Given the description of an element on the screen output the (x, y) to click on. 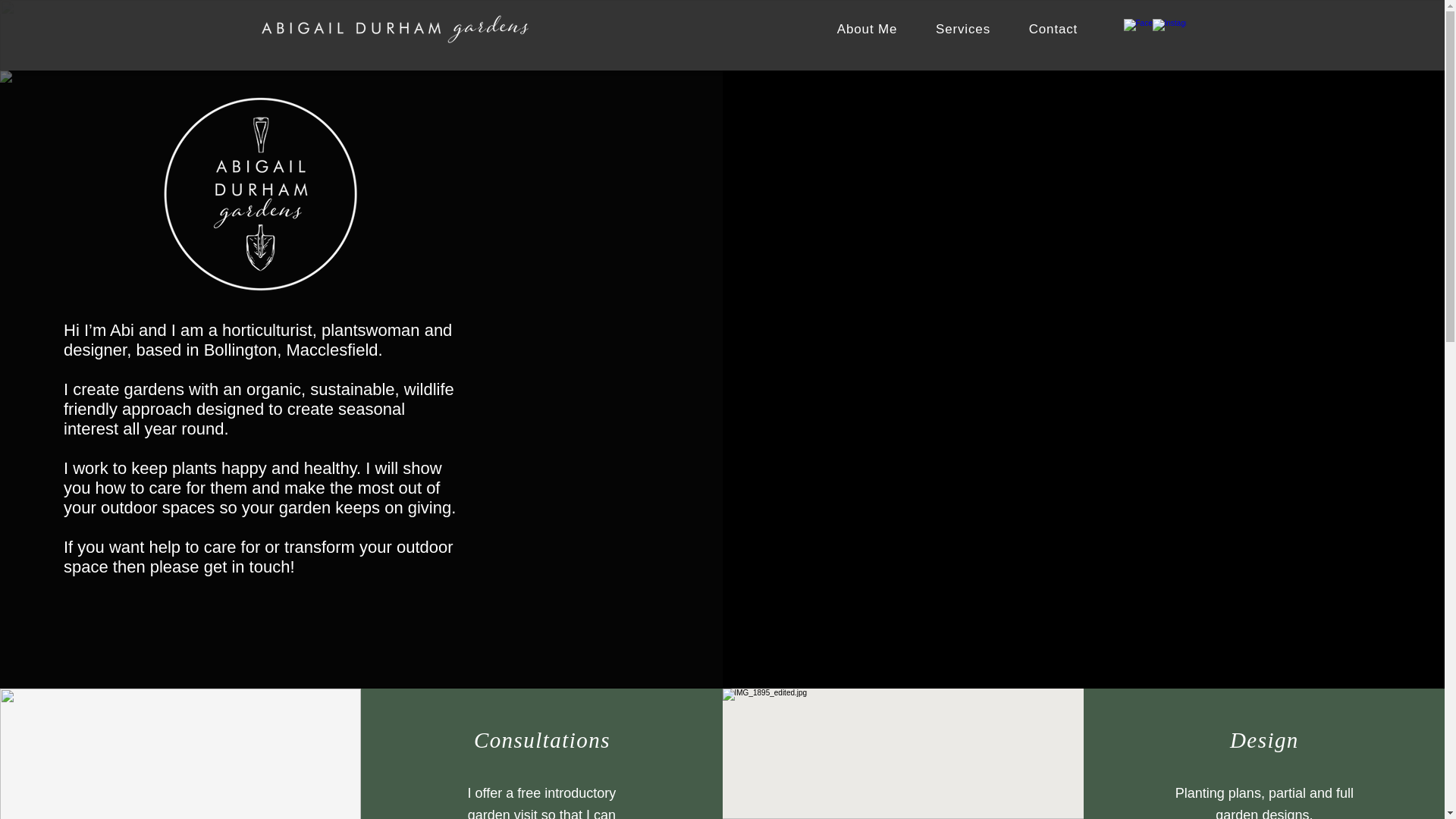
Contact (1052, 29)
Services (963, 29)
About Me (866, 29)
